Given the description of an element on the screen output the (x, y) to click on. 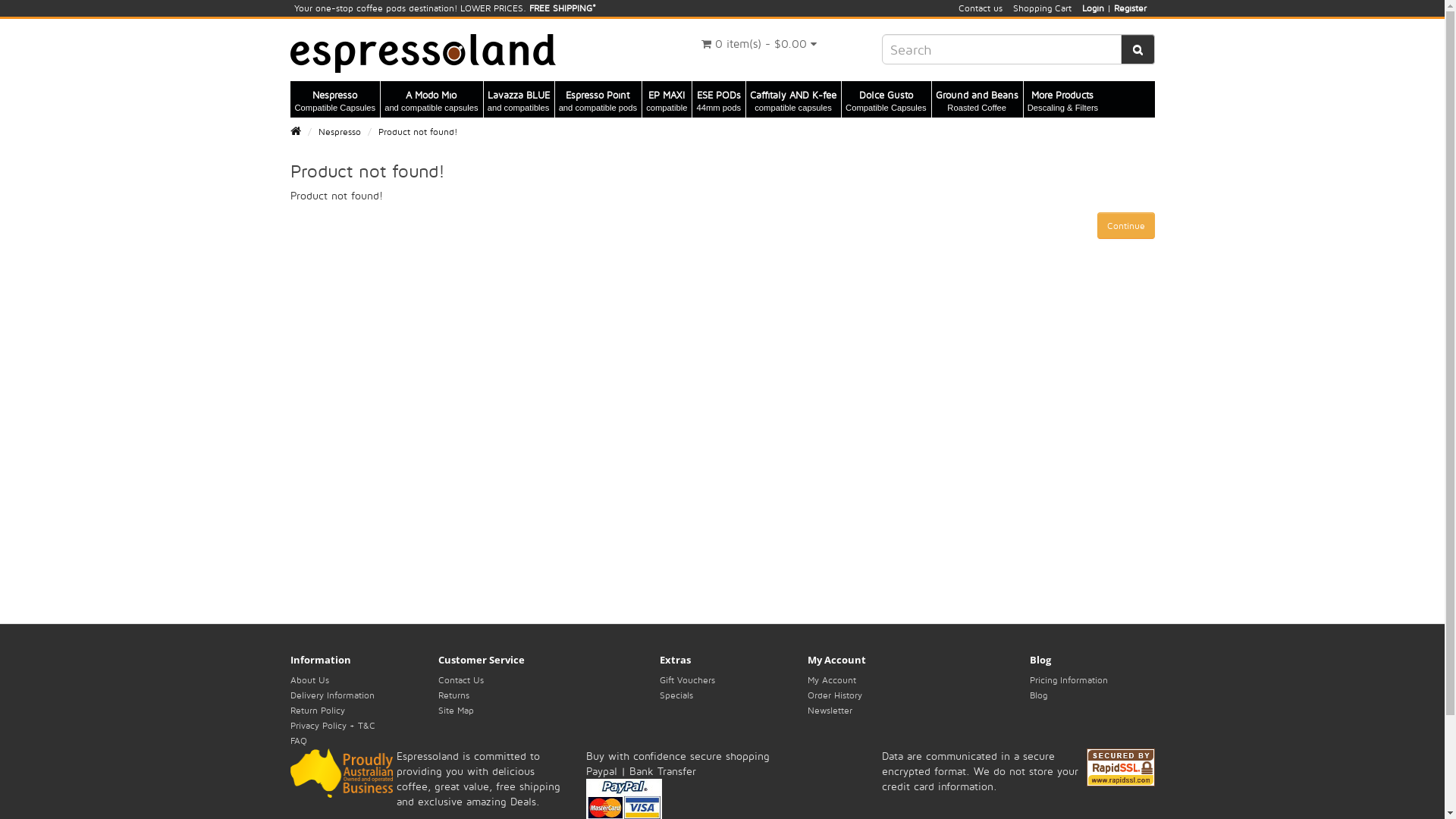
Newsletter Element type: text (829, 709)
Gift Vouchers Element type: text (687, 679)
Order History Element type: text (834, 694)
Proudly Australian Owned and Operated Business Element type: hover (342, 772)
Pricing Information Element type: text (1068, 679)
Login Element type: text (1093, 7)
Buy with confidence shopping Secured by RapidSSL - Geotrust Element type: hover (1119, 767)
My Account Element type: text (831, 679)
Delivery Information Element type: text (331, 694)
Dolce Gusto
Compatible Capsules Element type: text (886, 99)
Ground and Beans
Roasted Coffee Element type: text (976, 99)
About Us Element type: text (308, 679)
Return Policy Element type: text (316, 709)
Nespresso Element type: text (339, 131)
Contact Us Element type: text (460, 679)
EP MAXI
compatible Element type: text (666, 99)
Nespresso
Compatible Capsules Element type: text (335, 99)
Continue Element type: text (1125, 225)
Privacy Policy + T&C Element type: text (331, 725)
Product not found! Element type: text (416, 131)
Lavazza BLUE
and compatibles Element type: text (518, 99)
FAQ Element type: text (297, 740)
Specials Element type: text (676, 694)
Returns Element type: text (453, 694)
Contact us Element type: text (980, 7)
ESE PODs
44mm pods Element type: text (718, 99)
EspressoLand.com.au Element type: hover (422, 53)
Register Element type: text (1129, 7)
More Products
Descaling & Filters Element type: text (1063, 99)
0 item(s) - $0.00 Element type: text (759, 43)
Caffitaly AND K-fee
compatible capsules Element type: text (793, 99)
Site Map Element type: text (455, 709)
Shopping Cart Element type: text (1042, 7)
Espresso Point
and compatible pods Element type: text (598, 99)
Blog Element type: text (1038, 694)
A Modo Mio
and compatible capsules Element type: text (431, 99)
